Given the description of an element on the screen output the (x, y) to click on. 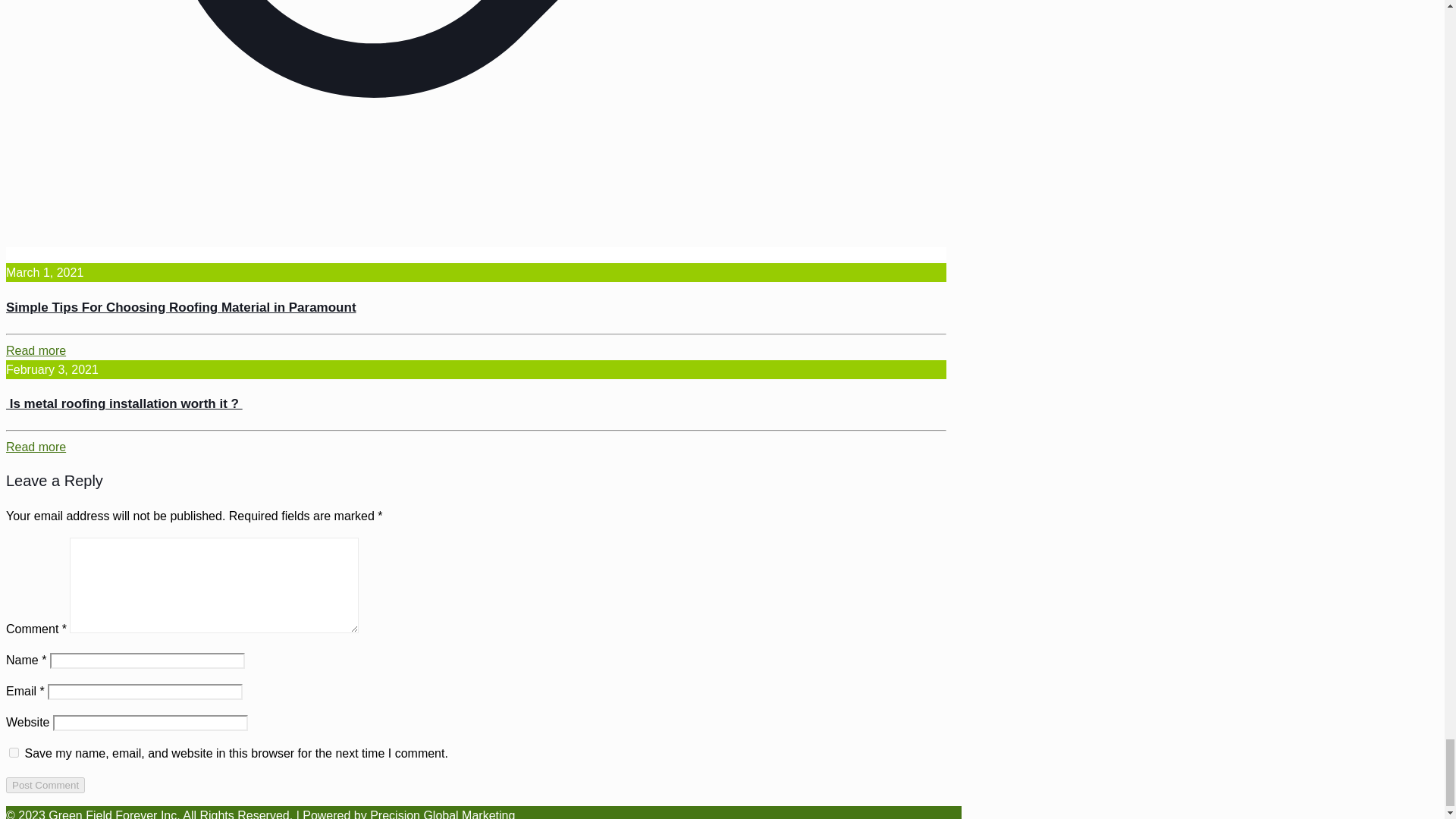
Post Comment (44, 785)
yes (13, 752)
